Given the description of an element on the screen output the (x, y) to click on. 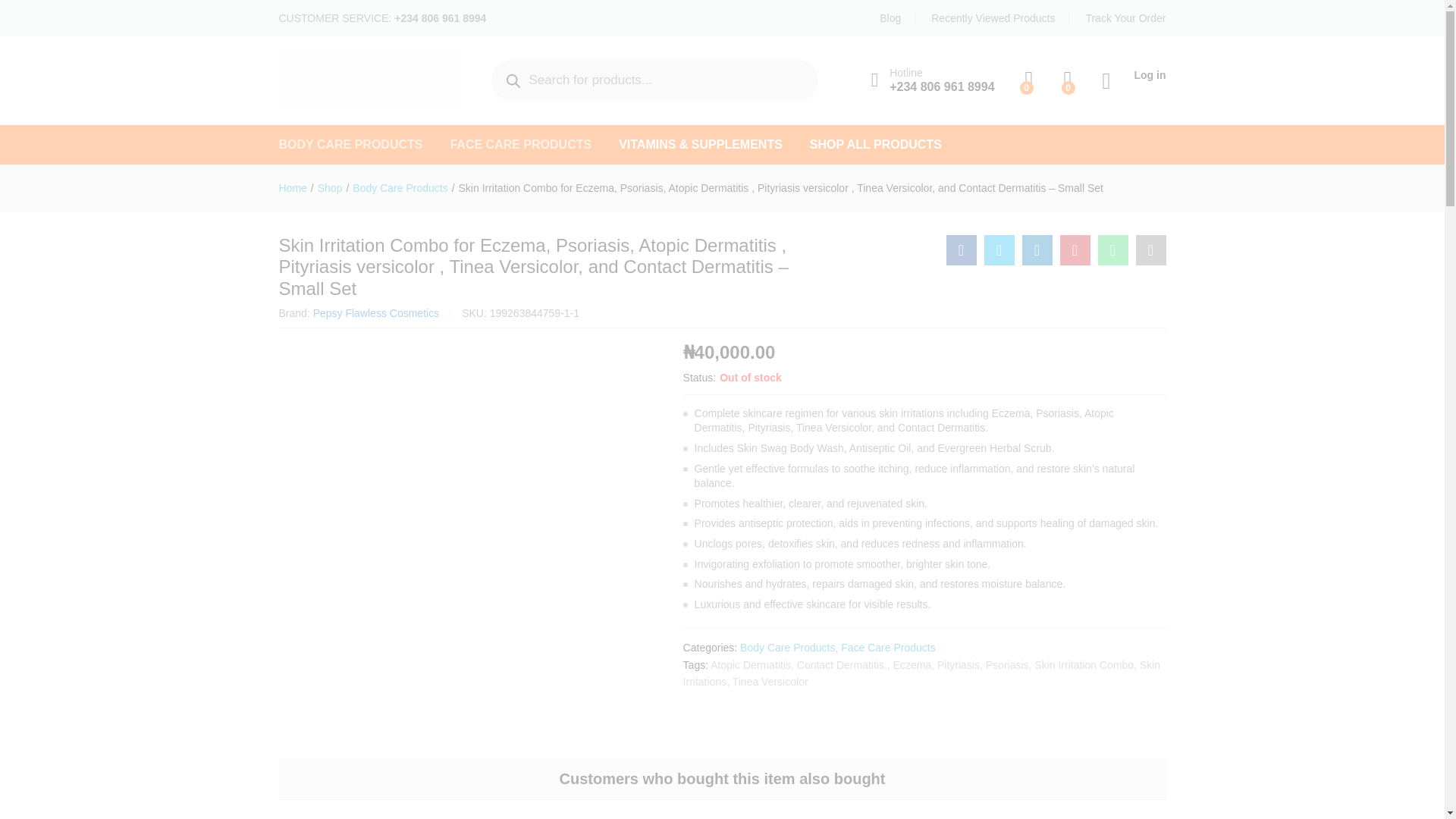
FACE CARE PRODUCTS (520, 144)
Recently Viewed Products (992, 18)
Blog (890, 18)
Home (293, 187)
Pepsy Flawless Cosmetics (376, 313)
Track Your Order (1125, 18)
Log in (1134, 74)
Body Care Products (399, 187)
Shop (329, 187)
BODY CARE PRODUCTS (351, 144)
